Given the description of an element on the screen output the (x, y) to click on. 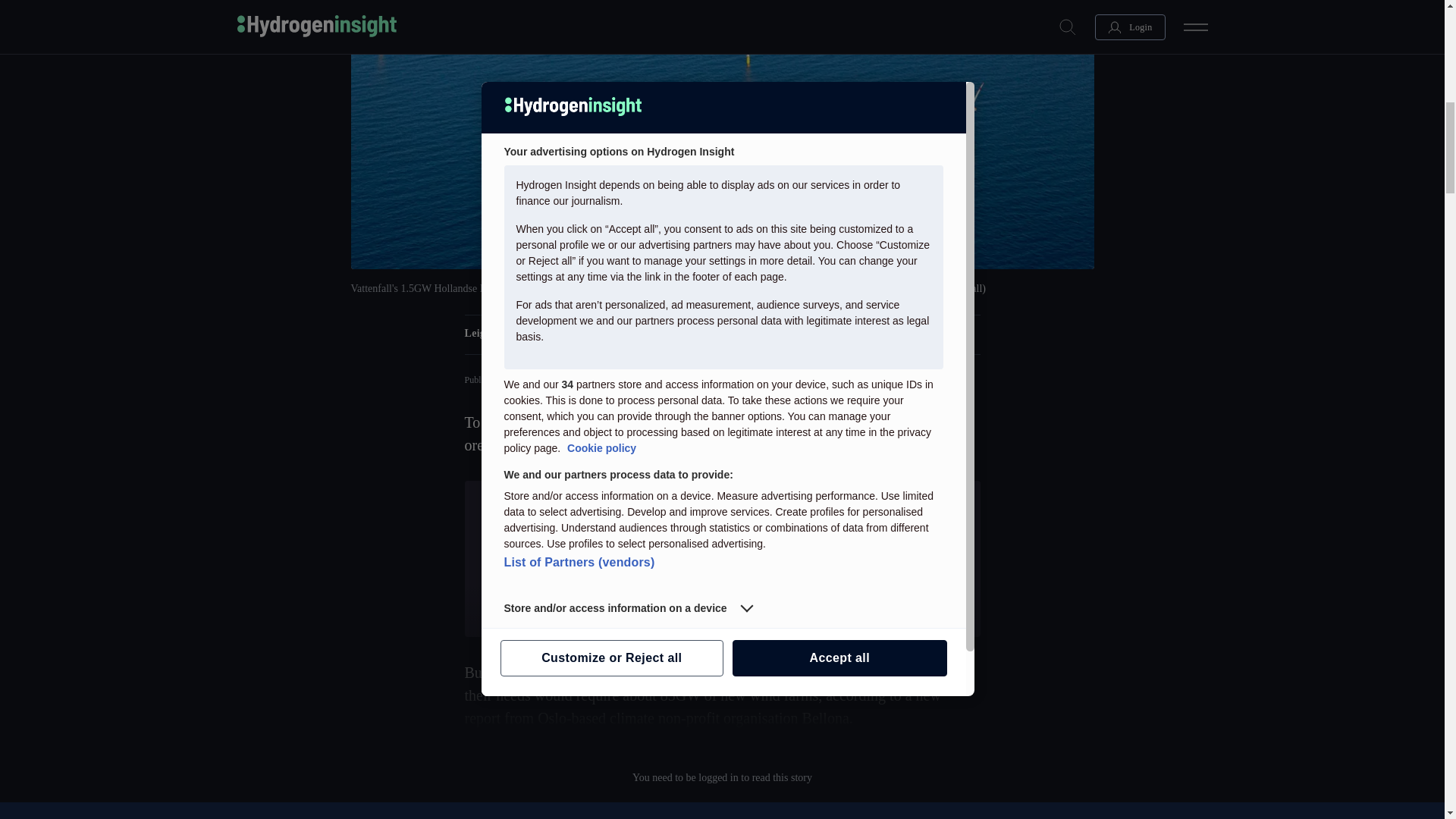
Leigh Collins (495, 333)
Leigh Collins (495, 333)
Sign up now (720, 601)
Sign up now (720, 601)
